Given the description of an element on the screen output the (x, y) to click on. 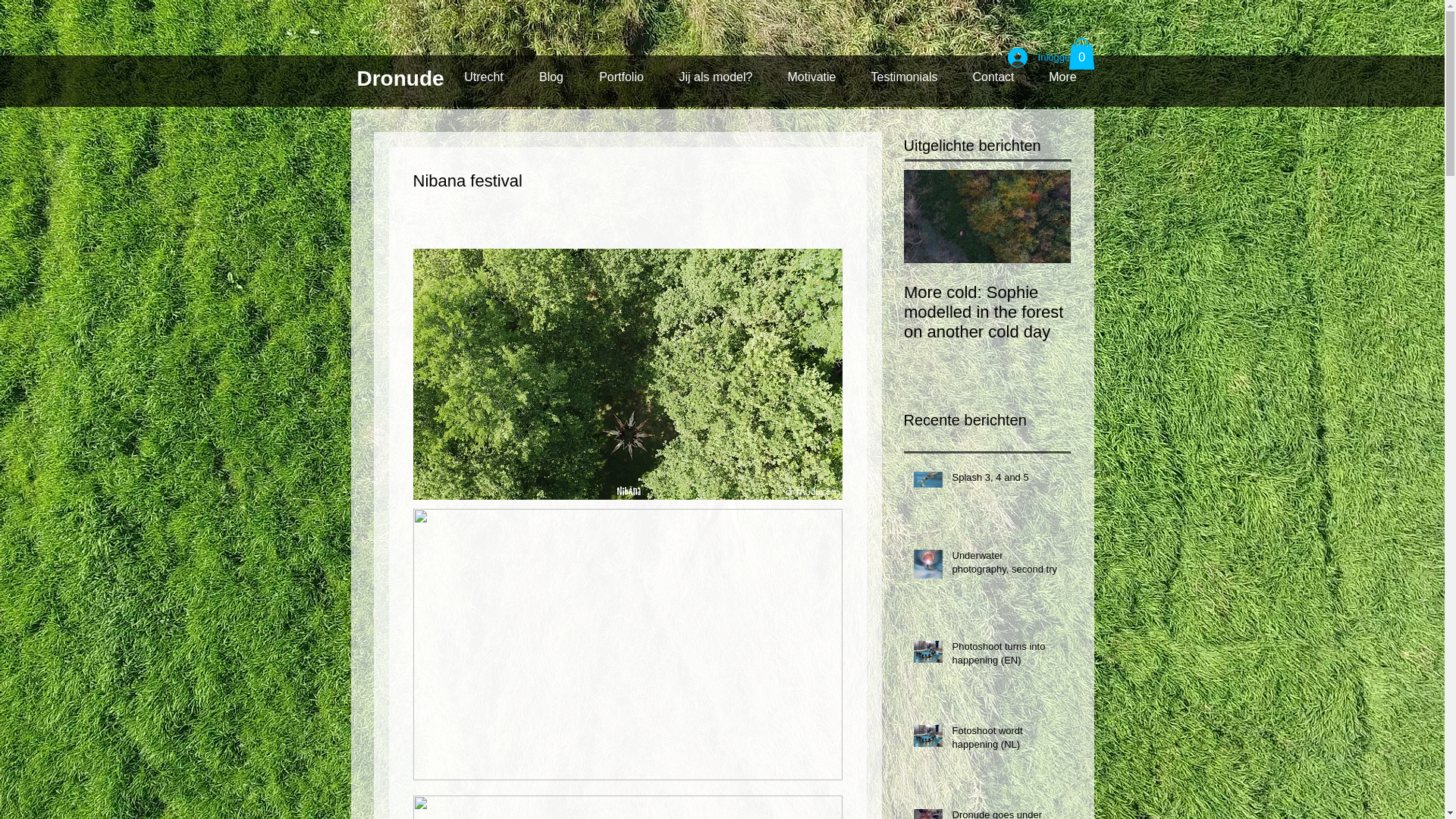
Inloggen (1041, 57)
Blog (550, 76)
Contact (993, 76)
Motivatie (811, 76)
Splash 3, 4 and 5 (1006, 480)
Jij als model? (715, 76)
Dronude goes under water (1006, 813)
More cold: Sophie modelled in the forest on another cold day (987, 312)
Portfolio (620, 76)
Testimonials (904, 76)
Utrecht (483, 76)
Underwater photography, second try (1006, 565)
